Given the description of an element on the screen output the (x, y) to click on. 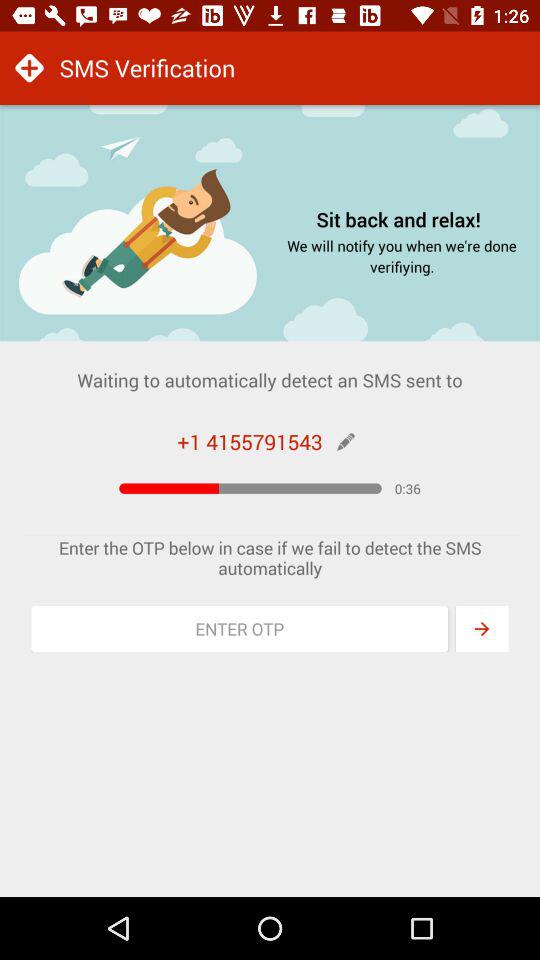
opt out of text message from specific number (239, 629)
